Given the description of an element on the screen output the (x, y) to click on. 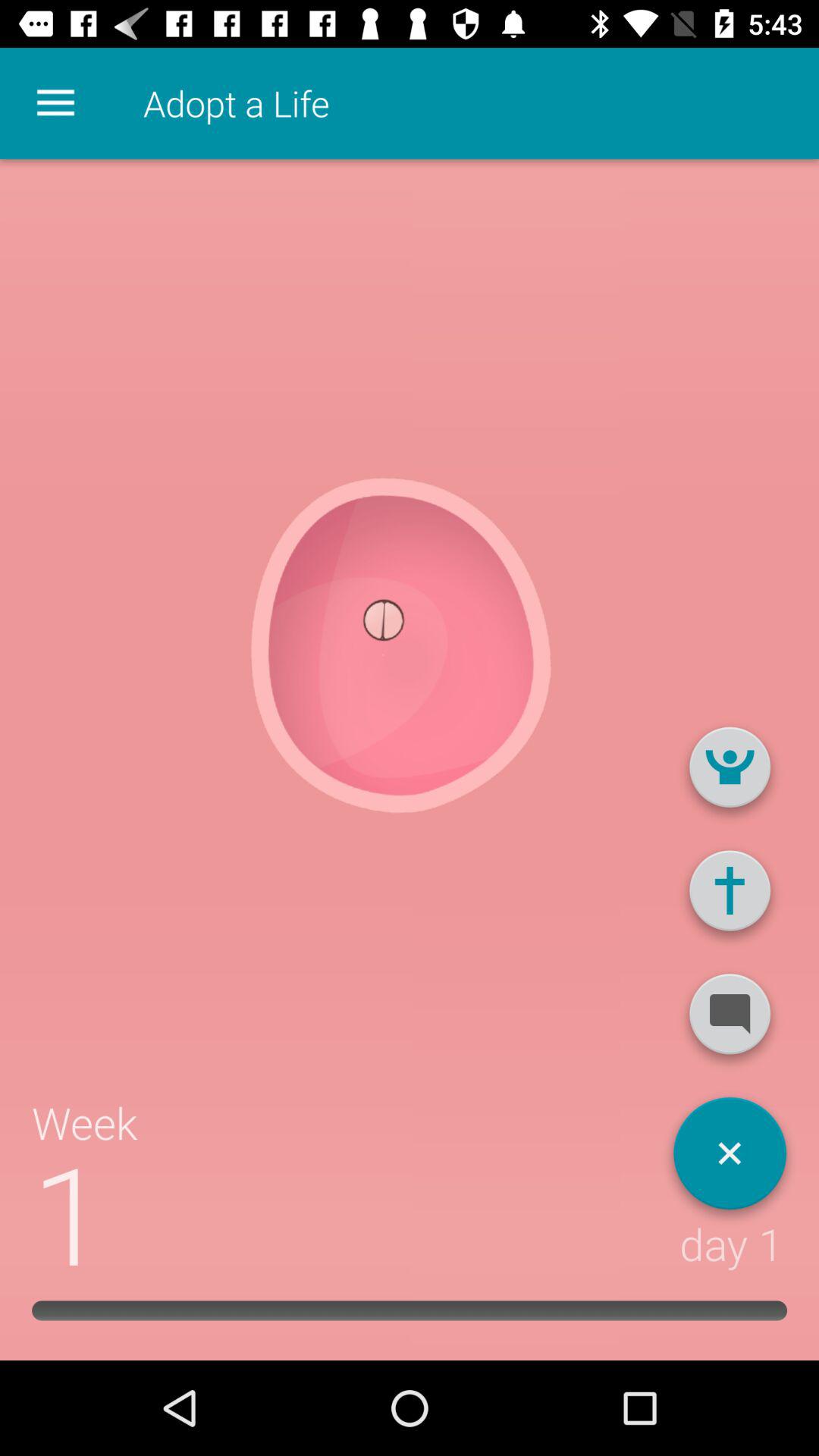
chat button messages (729, 1019)
